Given the description of an element on the screen output the (x, y) to click on. 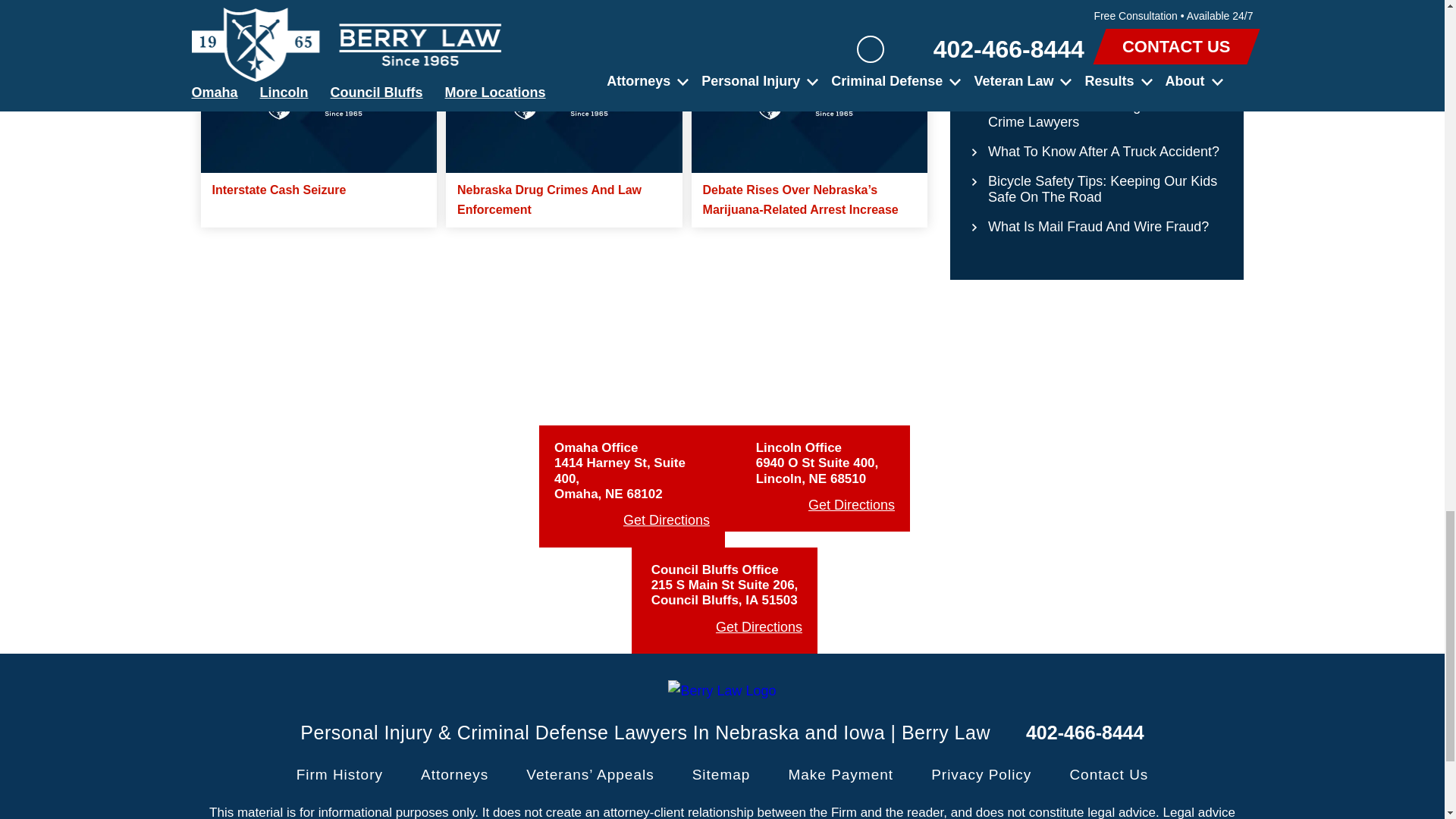
Lincoln Possession with Intent to Distribute Lawyer (318, 106)
Lincoln Possession with Intent to Distribute Lawyer (563, 106)
Lincoln Possession with Intent to Distribute Lawyer (809, 106)
Berry Law (722, 690)
